Given the description of an element on the screen output the (x, y) to click on. 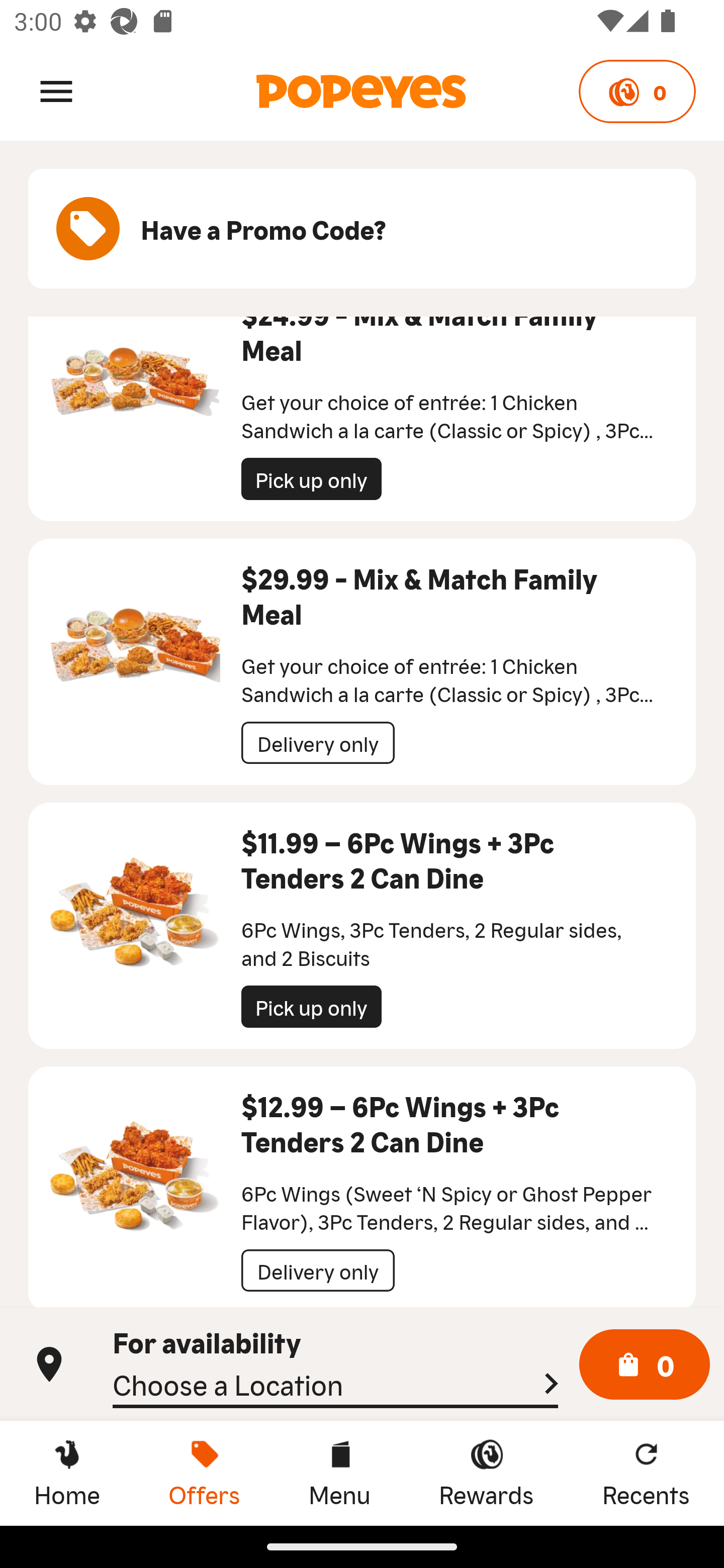
Menu  (56, 90)
0 Points 0 (636, 91)
Have a Promo Code?  Have a Promo Code? (361, 228)
0 Cart total  0 (644, 1364)
Home Home Home (66, 1472)
Offers, current page Offers Offers, current page (203, 1472)
Menu Menu Menu (339, 1472)
Rewards Rewards Rewards (486, 1472)
Recents Recents Recents (646, 1472)
